Given the description of an element on the screen output the (x, y) to click on. 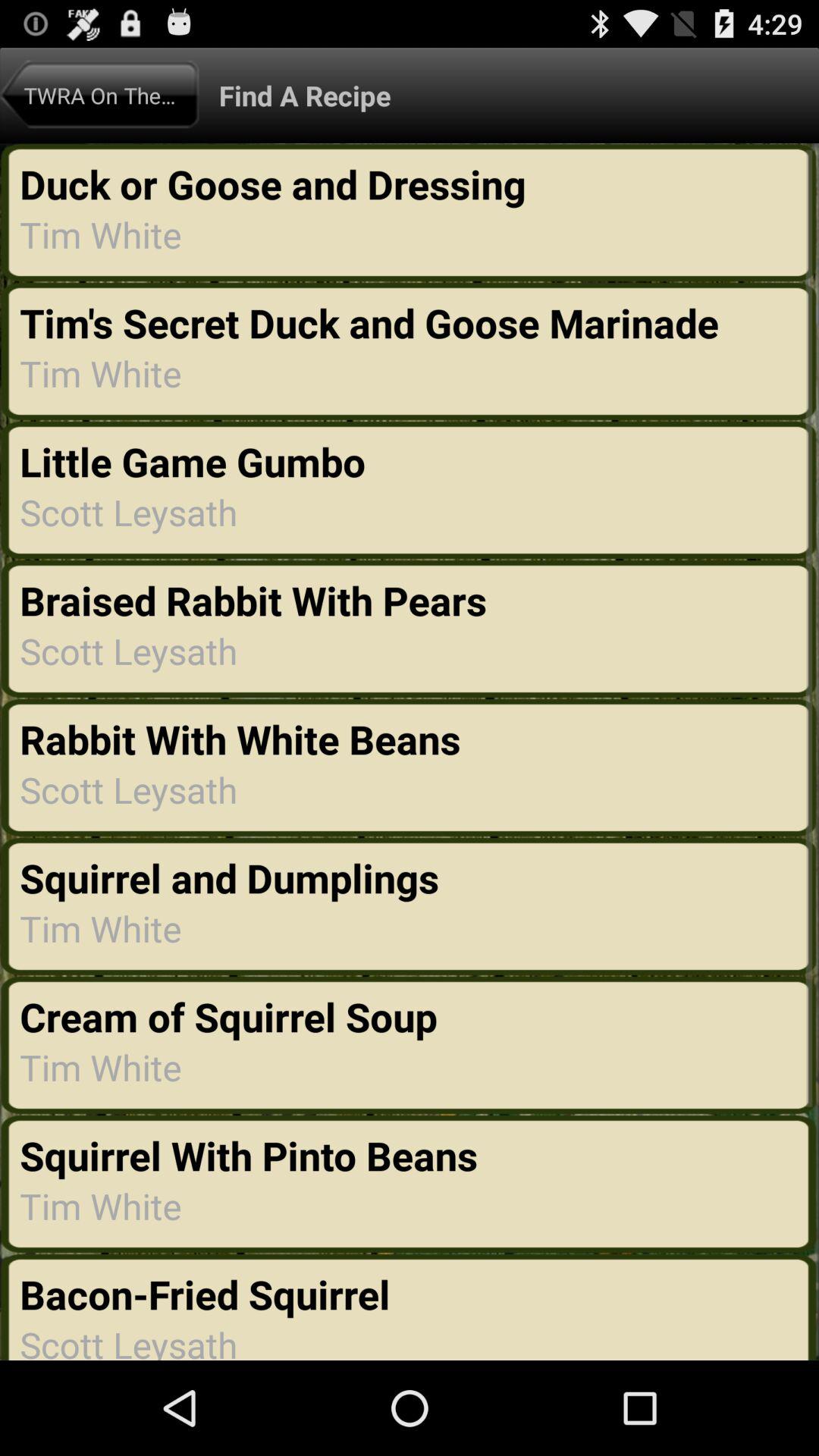
open the icon above tim white  item (233, 1016)
